Given the description of an element on the screen output the (x, y) to click on. 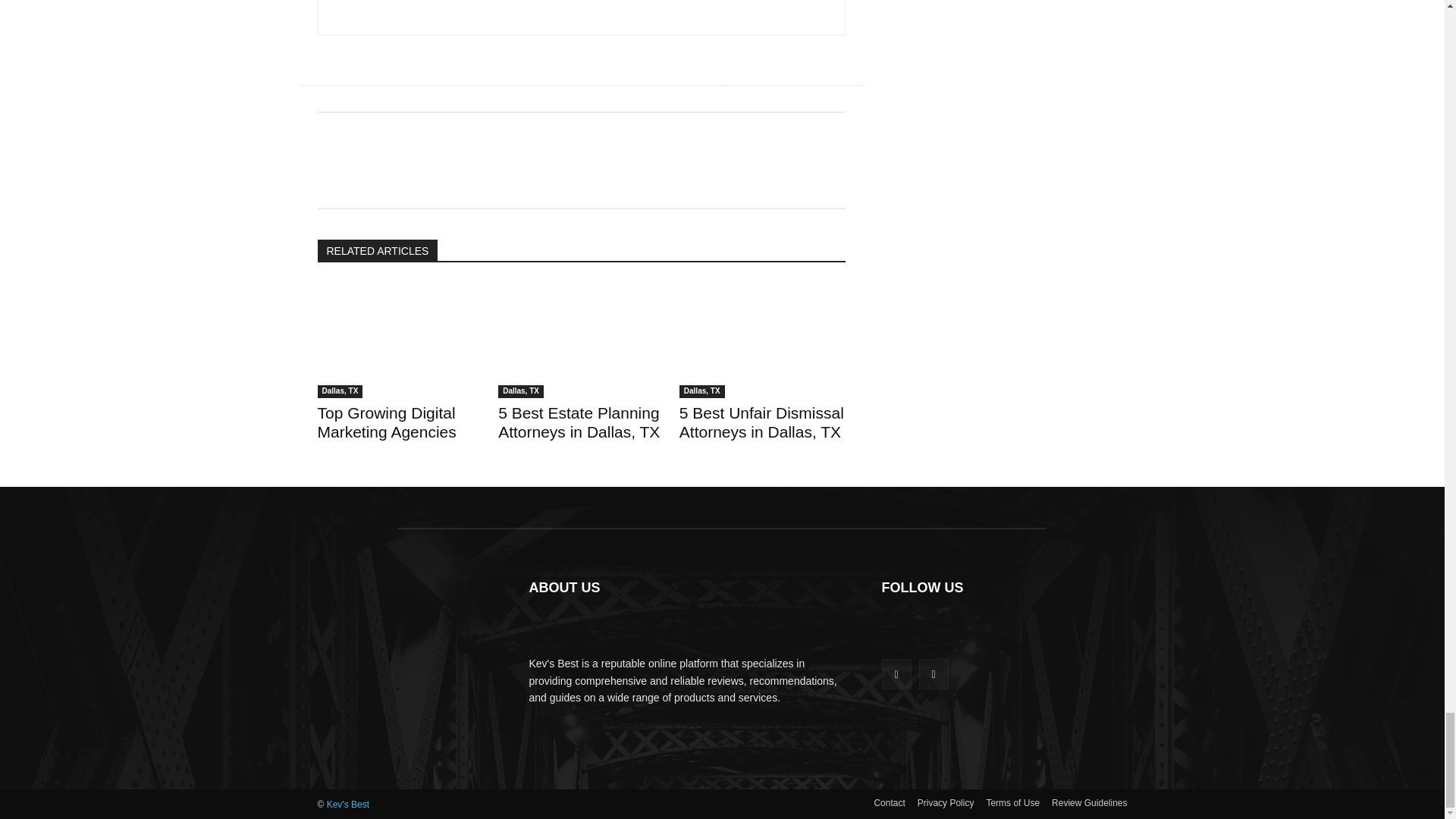
Top Growing Digital Marketing Agencies (400, 339)
Top Growing Digital Marketing Agencies (386, 422)
5 Best Estate Planning Attorneys in Dallas, TX (580, 339)
